Given the description of an element on the screen output the (x, y) to click on. 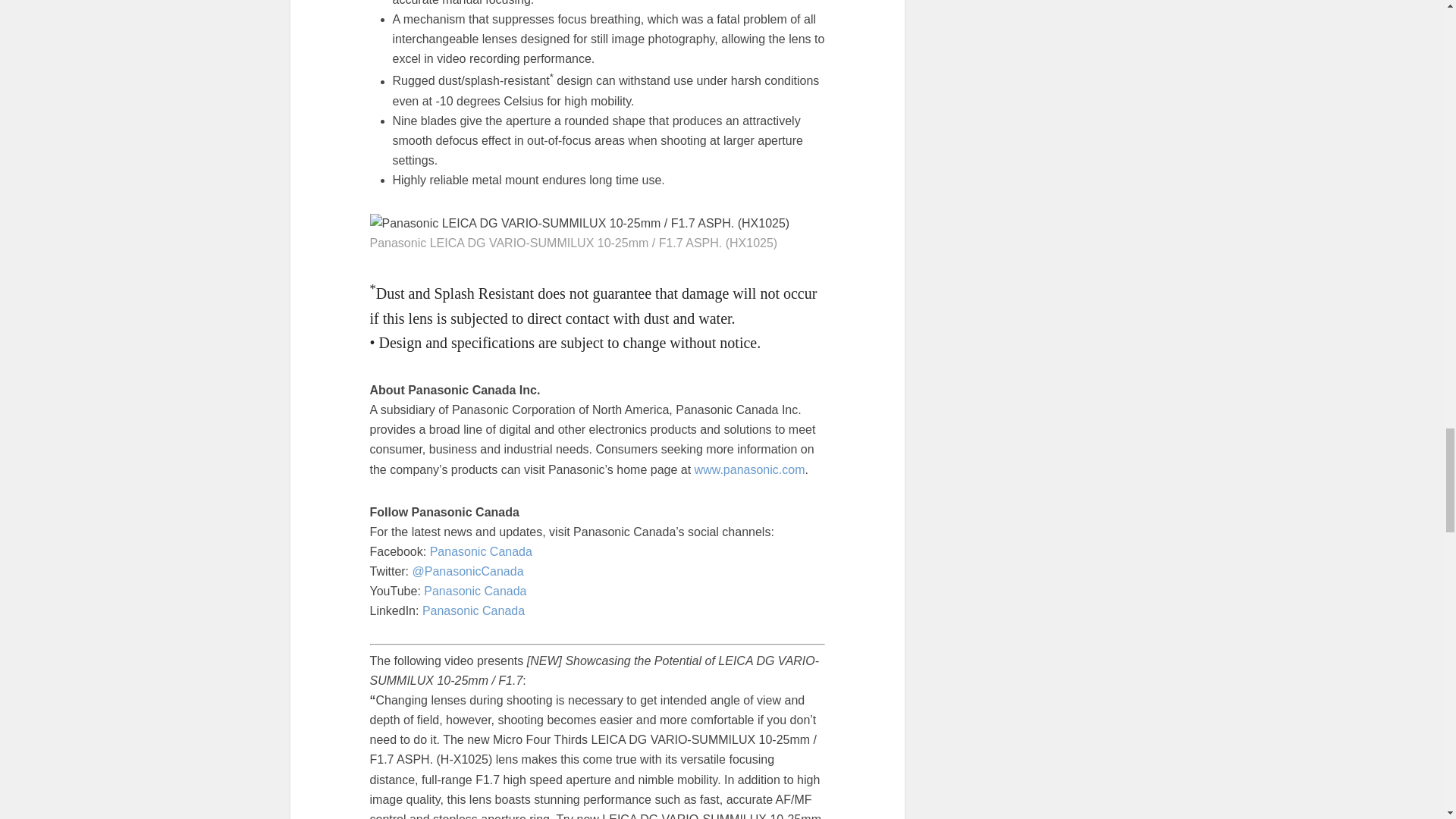
Panasonic Canada (474, 590)
Panasonic Canada (473, 610)
Panasonic Canada (480, 551)
www.panasonic.com (749, 468)
